Given the description of an element on the screen output the (x, y) to click on. 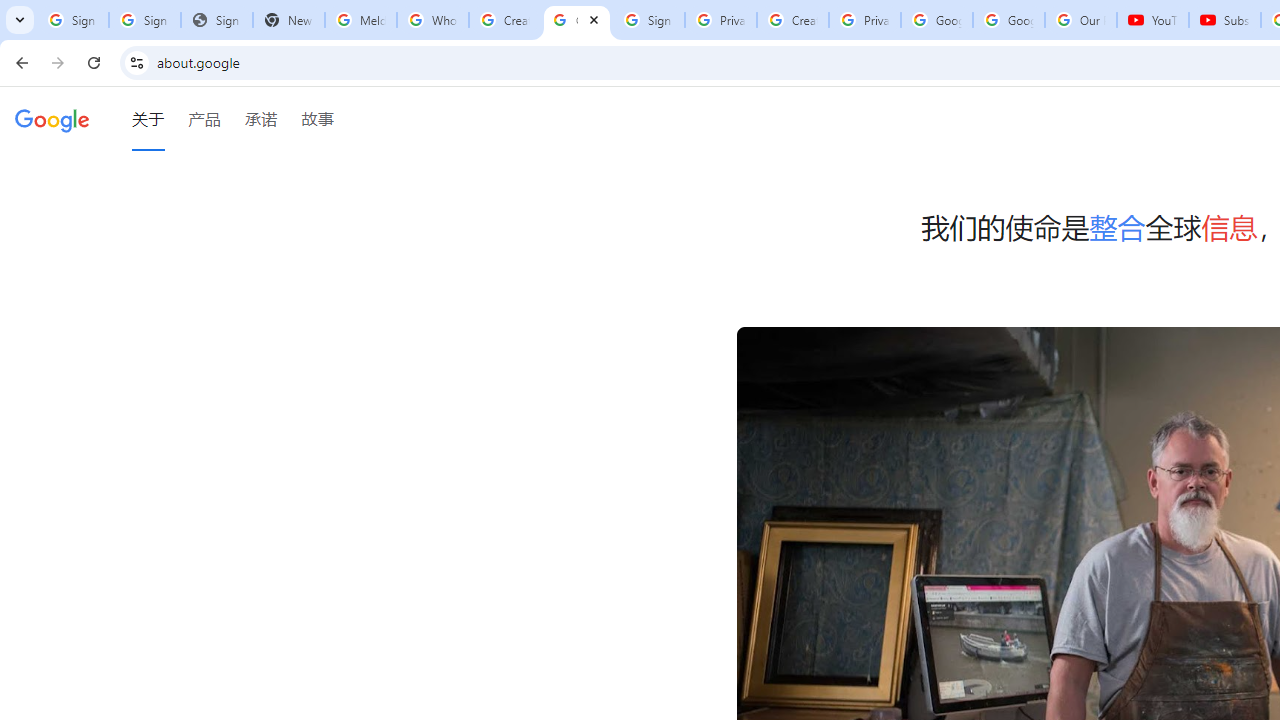
Create your Google Account (792, 20)
YouTube (1153, 20)
Sign in - Google Accounts (648, 20)
